Given the description of an element on the screen output the (x, y) to click on. 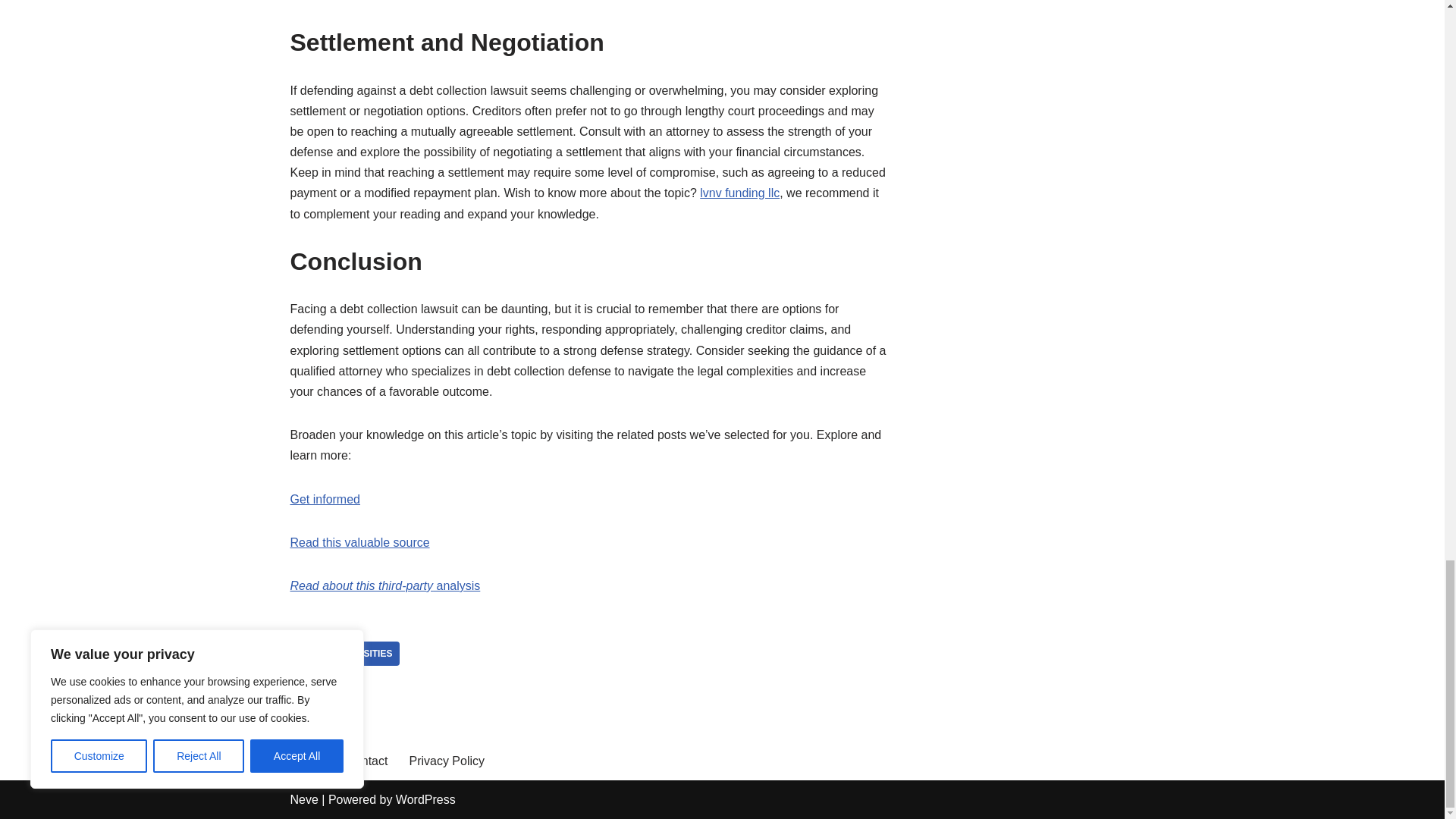
lvnv funding llc (739, 192)
curiosities (363, 653)
Get informed (324, 499)
Read about this third-party analysis (384, 585)
CURIOSITIES (363, 653)
Read this valuable source (359, 542)
